Given the description of an element on the screen output the (x, y) to click on. 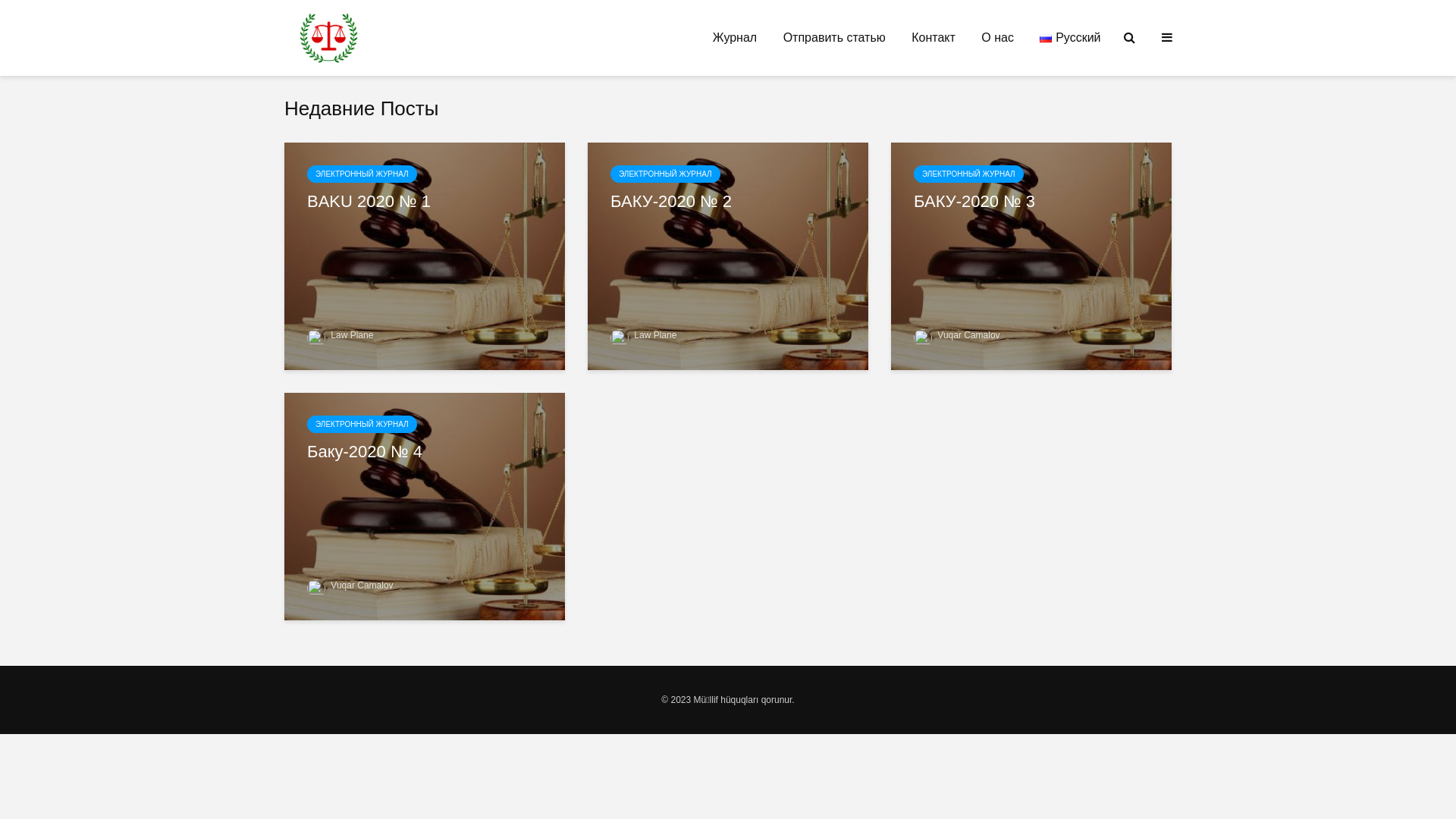
Law Plane Element type: text (340, 334)
Vuqar Camalov Element type: text (956, 334)
Vuqar Camalov Element type: text (350, 585)
Law Plane Element type: text (643, 334)
